Given the description of an element on the screen output the (x, y) to click on. 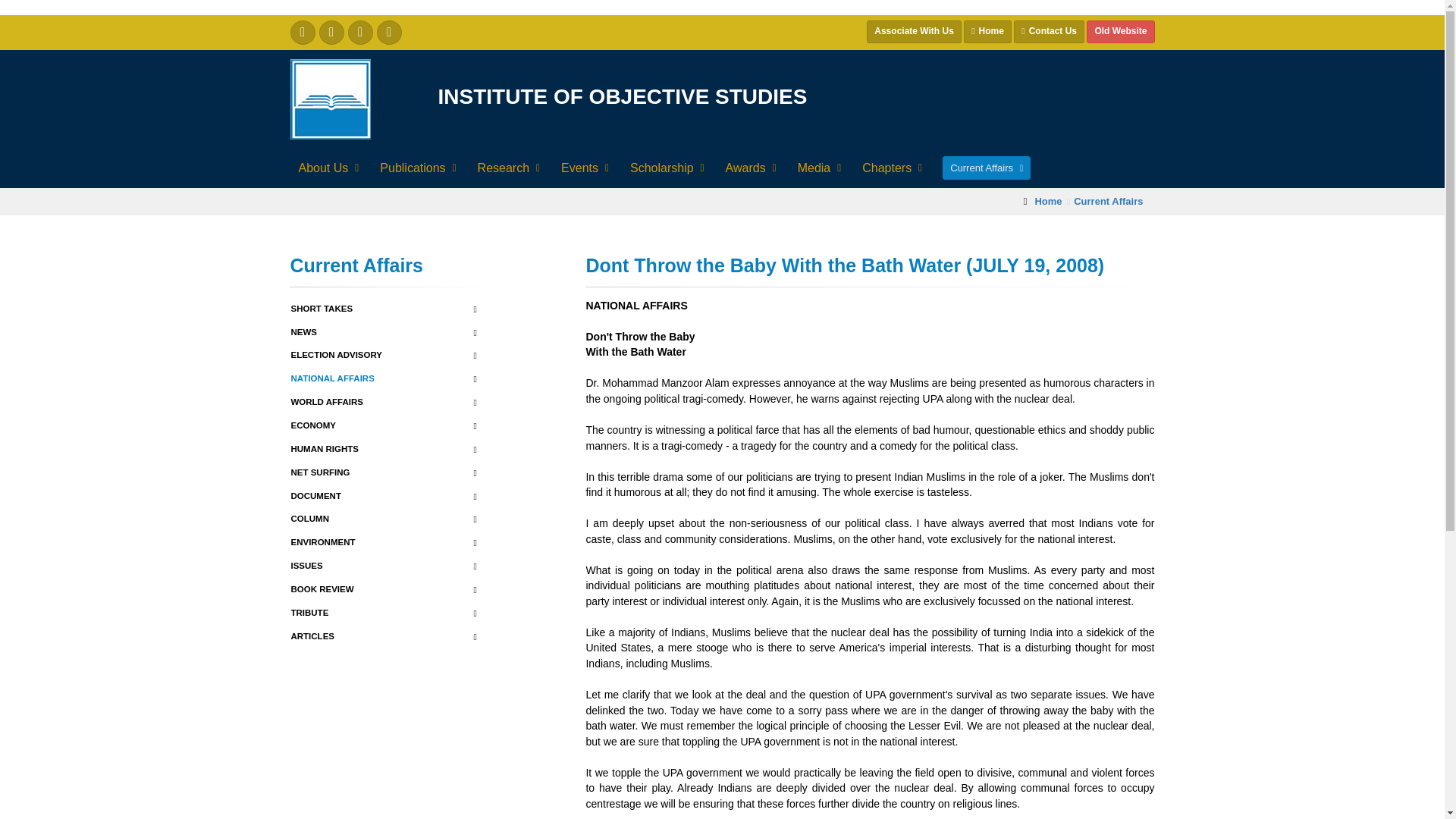
Contact Us (1048, 31)
Associate With Us (913, 31)
About Us (326, 168)
Old Website (1120, 31)
Home (987, 31)
Publications (416, 168)
